Given the description of an element on the screen output the (x, y) to click on. 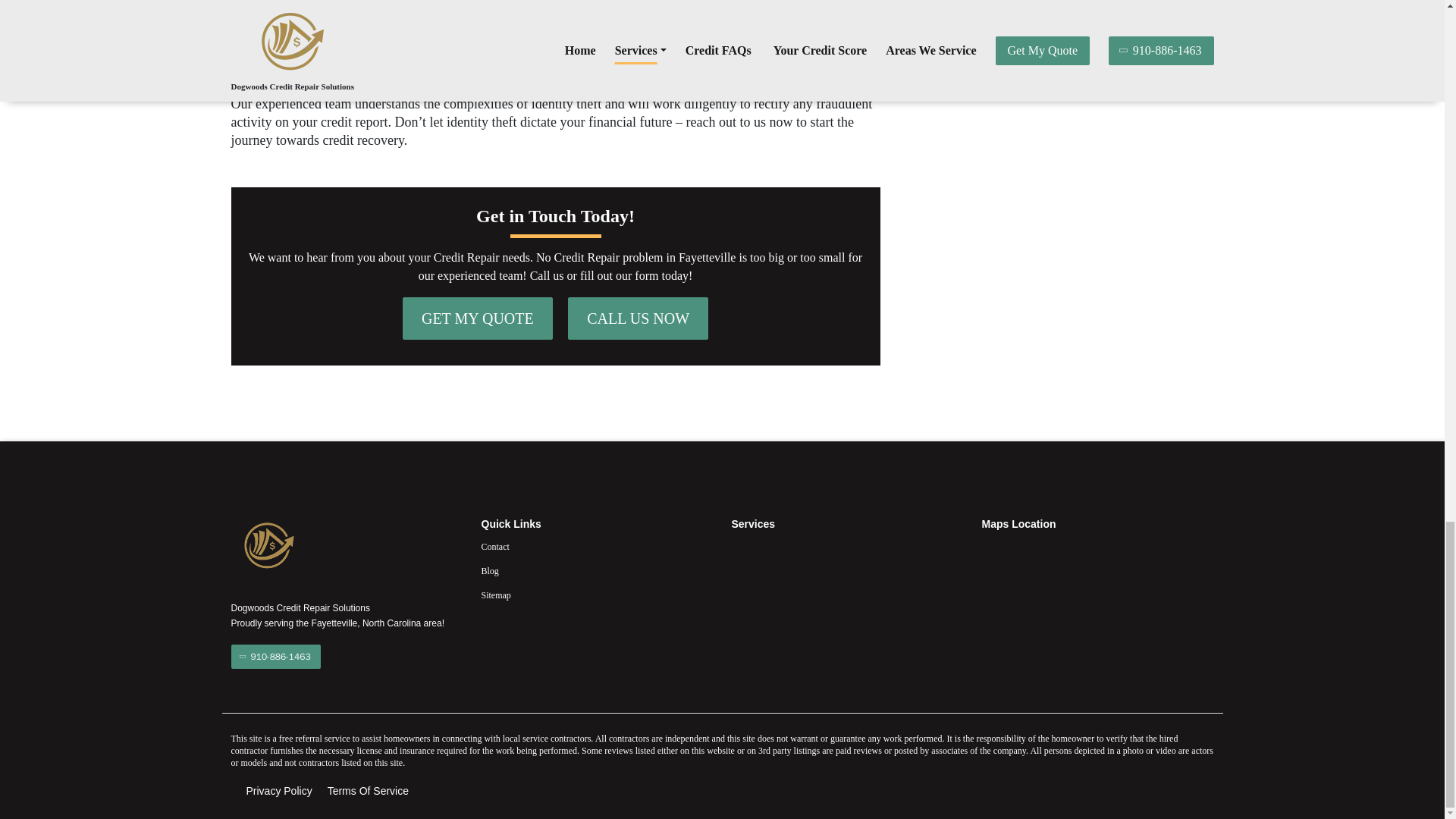
Contact (596, 546)
CALL US NOW (637, 318)
GET MY QUOTE (478, 318)
Blog (596, 570)
910-886-1463 (275, 656)
Privacy Policy (278, 791)
Sitemap (596, 595)
Terms Of Service (368, 791)
